Given the description of an element on the screen output the (x, y) to click on. 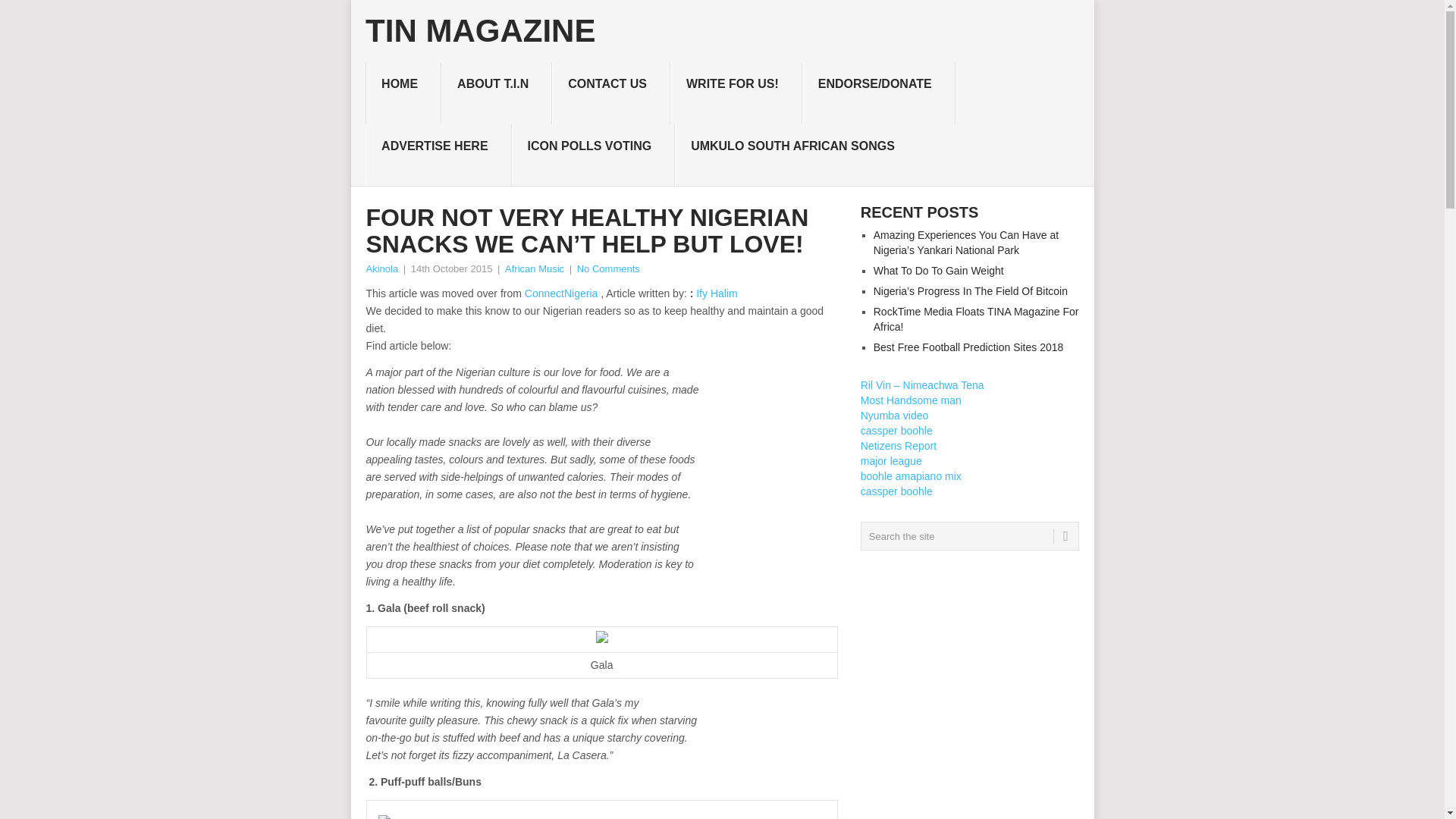
CONTACT US (610, 93)
HOME (403, 93)
What To Do To Gain Weight (938, 270)
Search the site (969, 535)
Posts by Akinola (381, 268)
Best Free Football Prediction Sites 2018 (968, 346)
No Comments (608, 268)
ICON POLLS VOTING (593, 155)
ABOUT T.I.N (496, 93)
WRITE FOR US! (735, 93)
RockTime Media Floats TINA Magazine For Africa! (975, 318)
ConnectNigeria (561, 293)
African Music (534, 268)
Akinola (381, 268)
UMKULO SOUTH AFRICAN SONGS (796, 155)
